Given the description of an element on the screen output the (x, y) to click on. 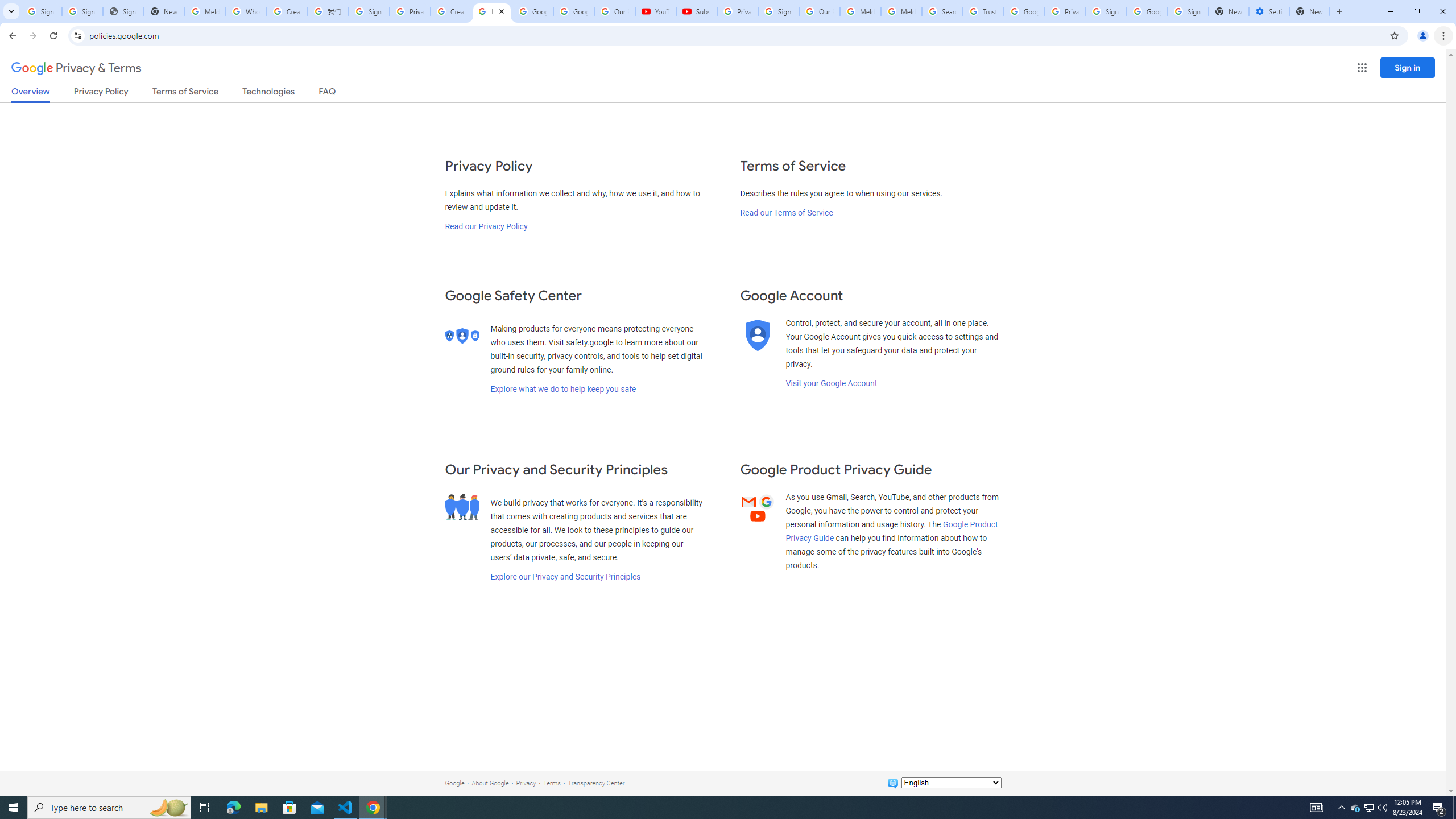
Sign in - Google Accounts (777, 11)
Settings - Addresses and more (1268, 11)
Sign in - Google Accounts (1105, 11)
Read our Terms of Service (785, 212)
Read our Privacy Policy (485, 226)
Sign in - Google Accounts (1187, 11)
